Given the description of an element on the screen output the (x, y) to click on. 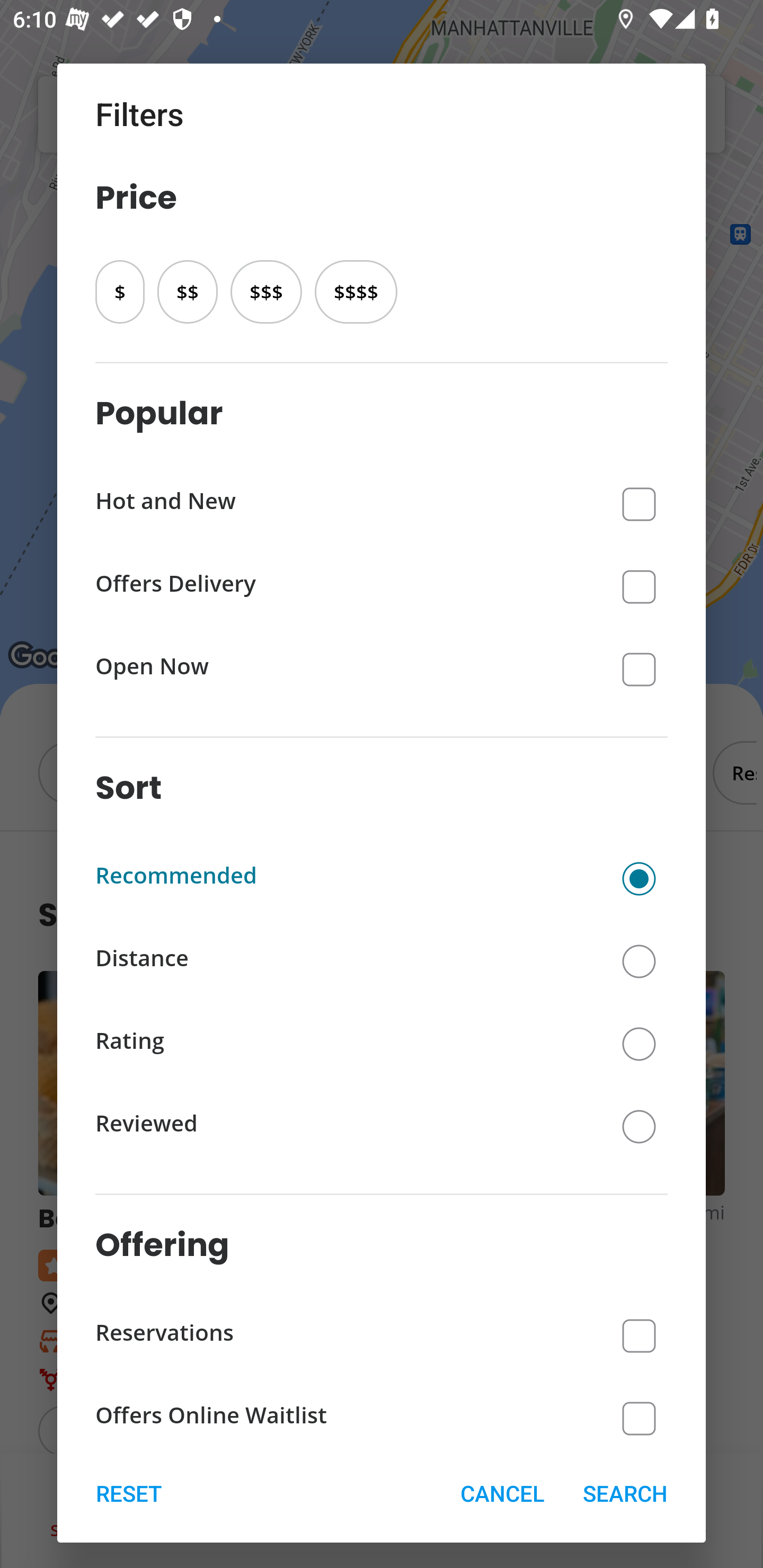
$ (119, 291)
